Given the description of an element on the screen output the (x, y) to click on. 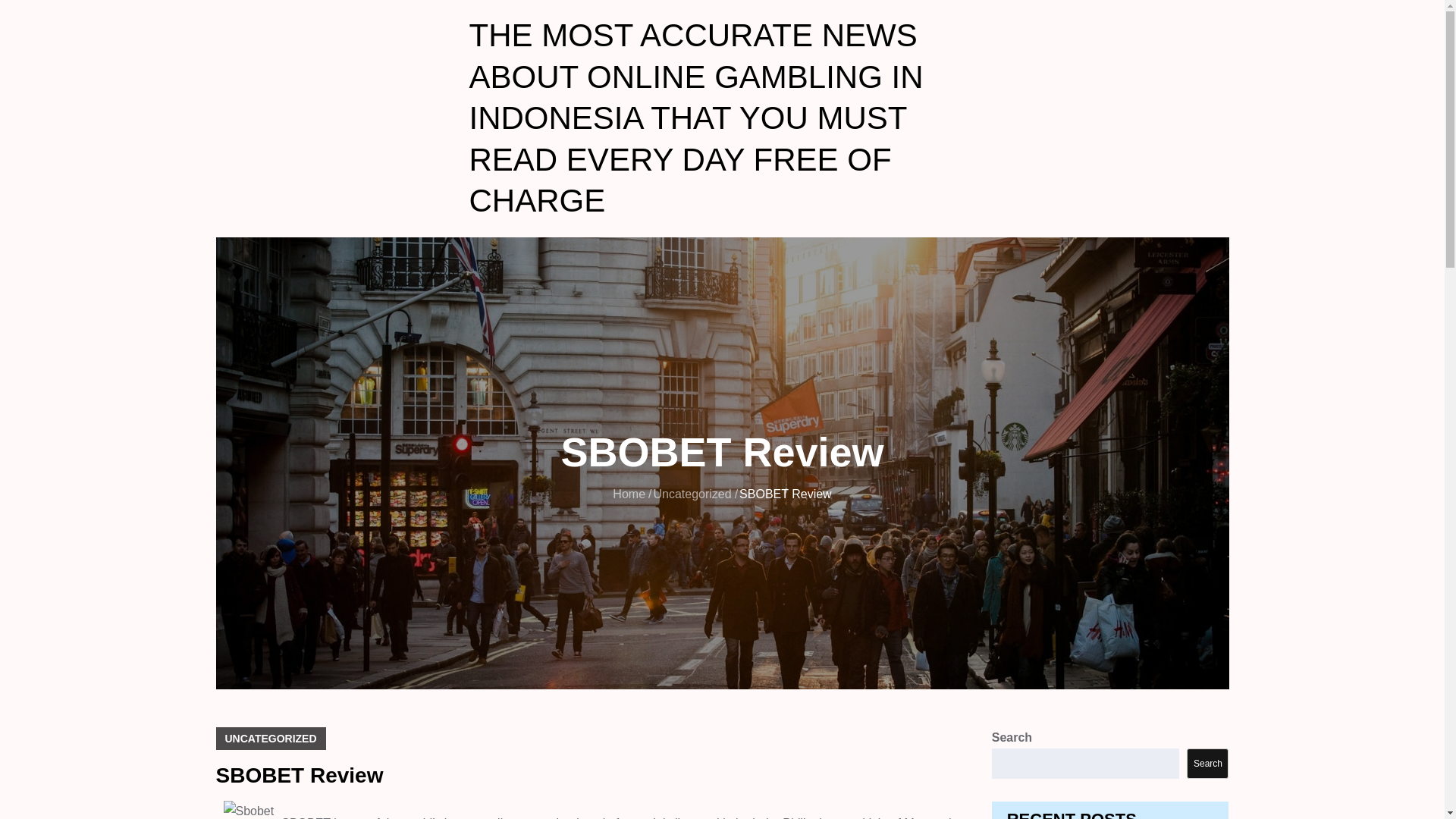
Home (628, 493)
Search (1207, 763)
Uncategorized (691, 493)
UNCATEGORIZED (269, 738)
